Given the description of an element on the screen output the (x, y) to click on. 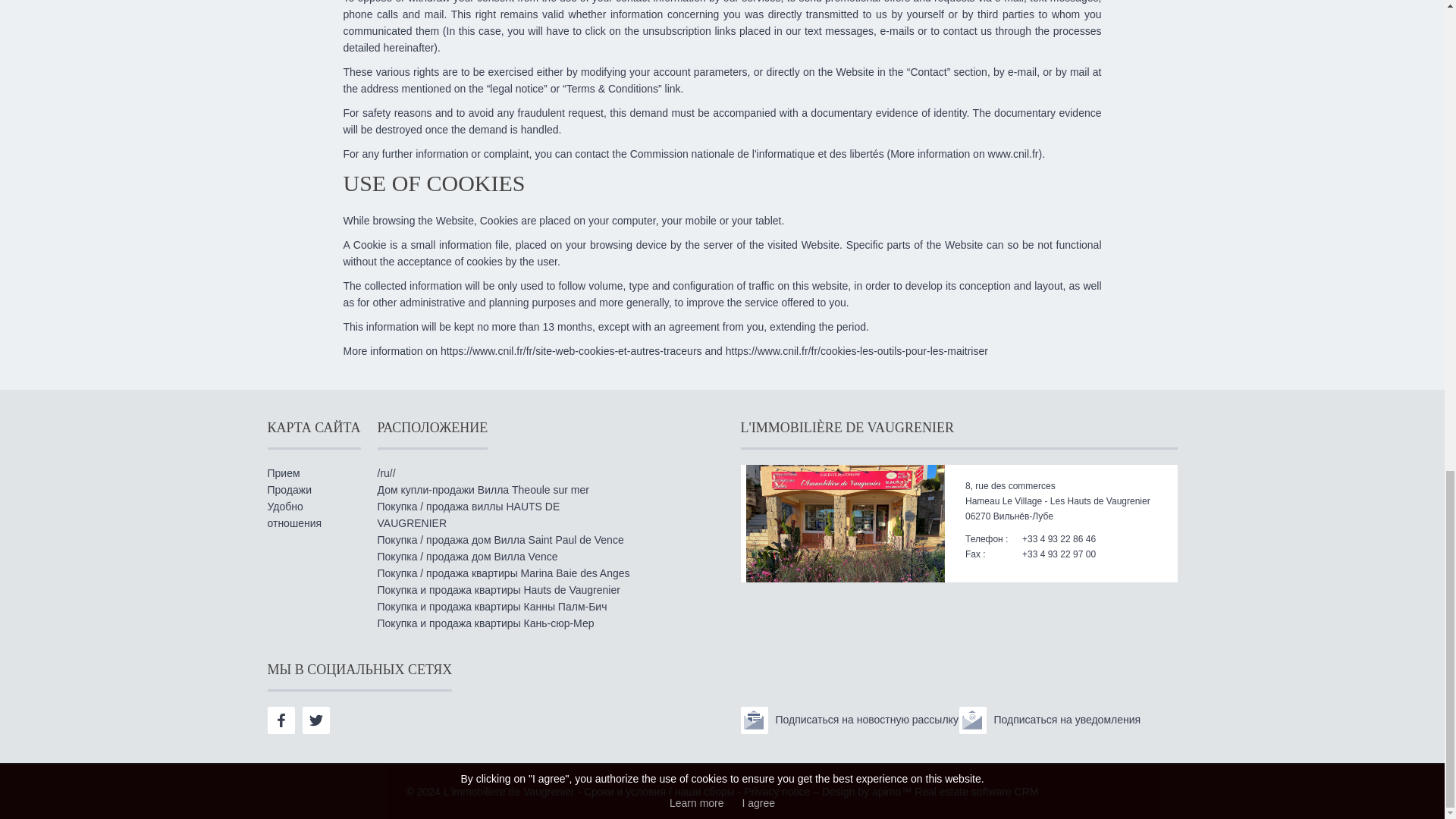
www.cnil.fr (1013, 153)
twitter (316, 719)
facebook (280, 719)
Privacy notice (776, 791)
